Given the description of an element on the screen output the (x, y) to click on. 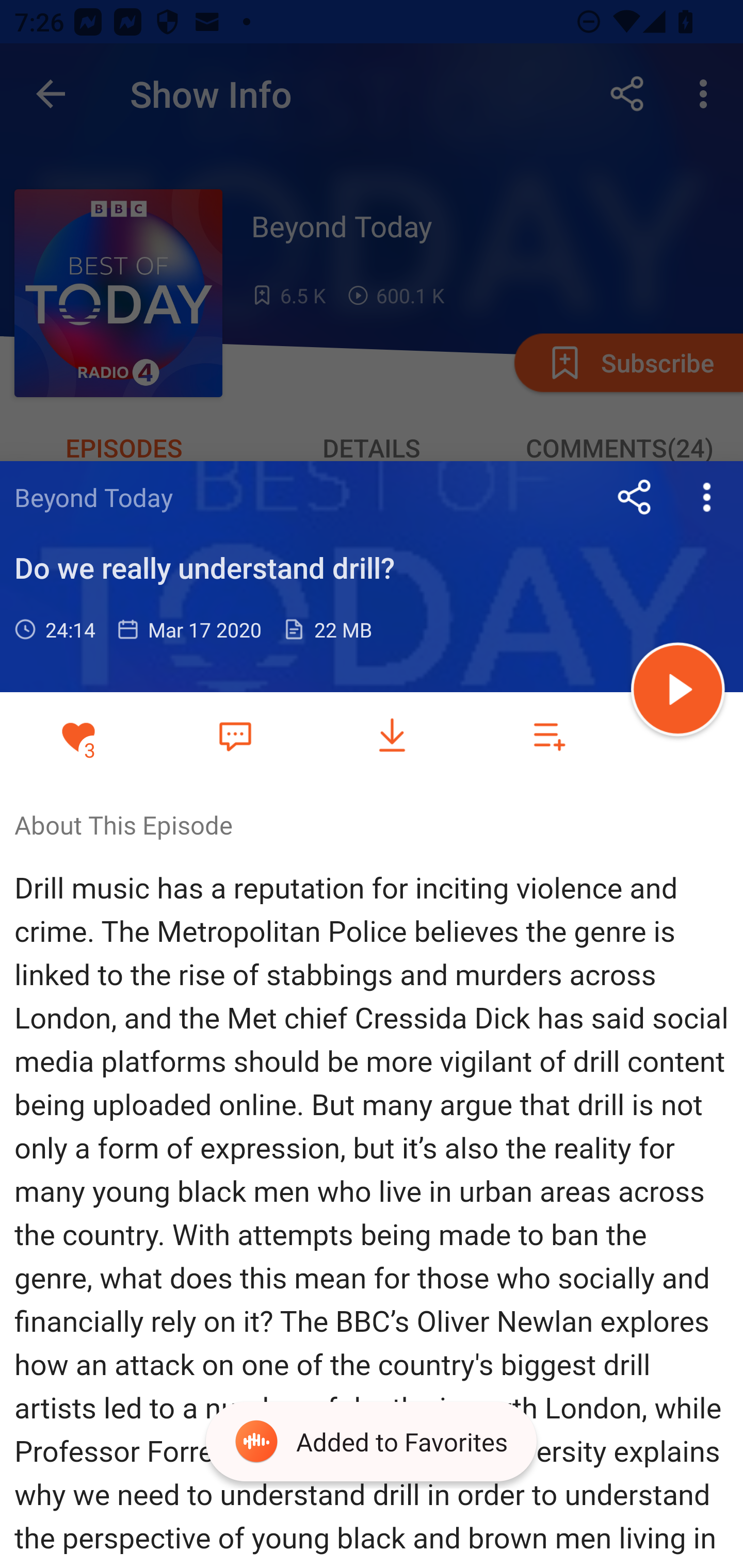
Share (634, 496)
more options (706, 496)
Play (677, 692)
Favorite (234, 735)
Remove from Favorites (78, 735)
Download (391, 735)
Add to playlist (548, 735)
